Given the description of an element on the screen output the (x, y) to click on. 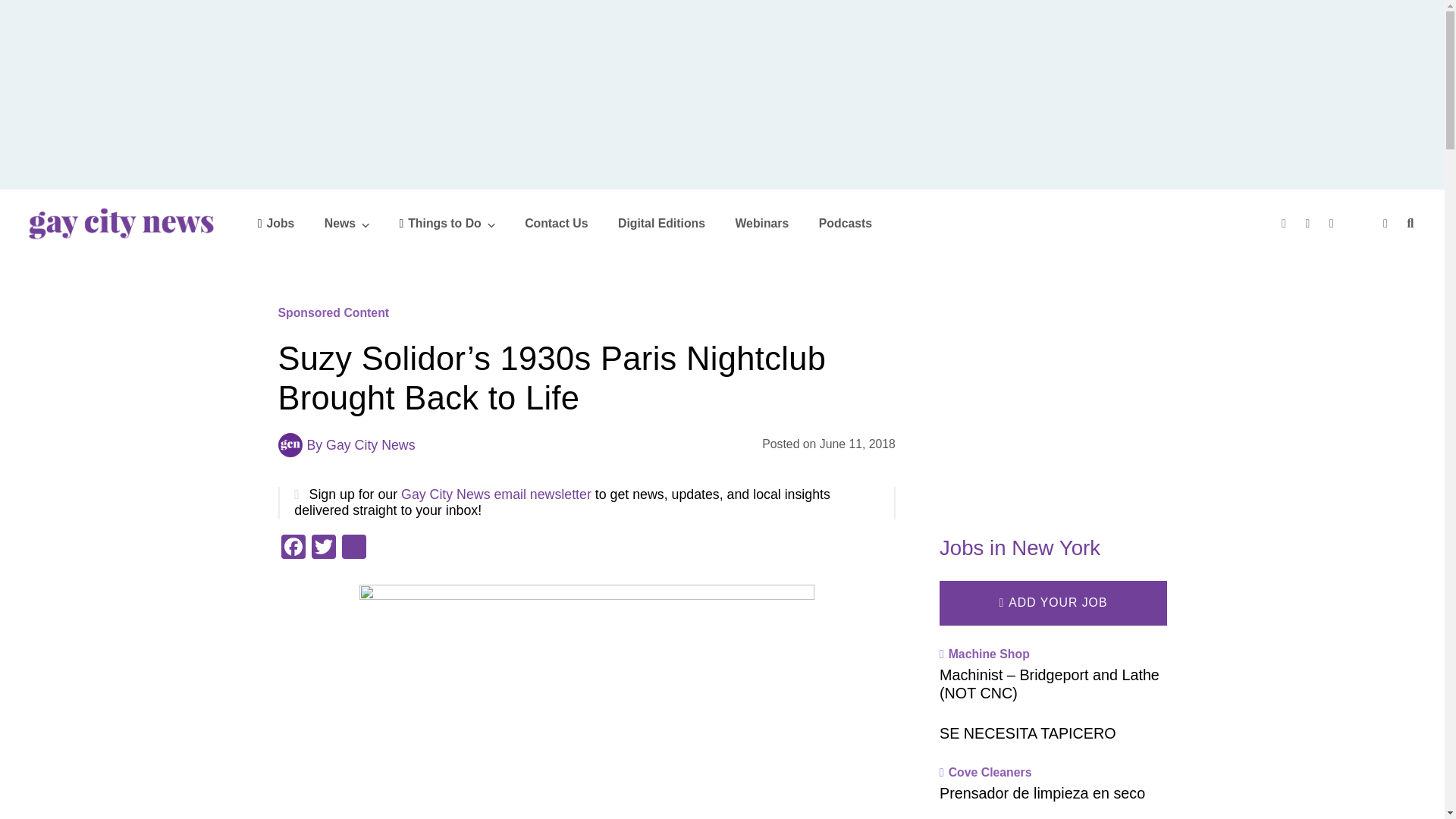
Podcasts (845, 223)
Contact Us (556, 223)
Facebook (292, 548)
Digital Editions (660, 223)
Jobs (276, 223)
Posts by Gay City News (370, 444)
Twitter (322, 548)
News (346, 223)
Webinars (762, 223)
Things to Do (446, 223)
3rd party ad content (1052, 394)
